Given the description of an element on the screen output the (x, y) to click on. 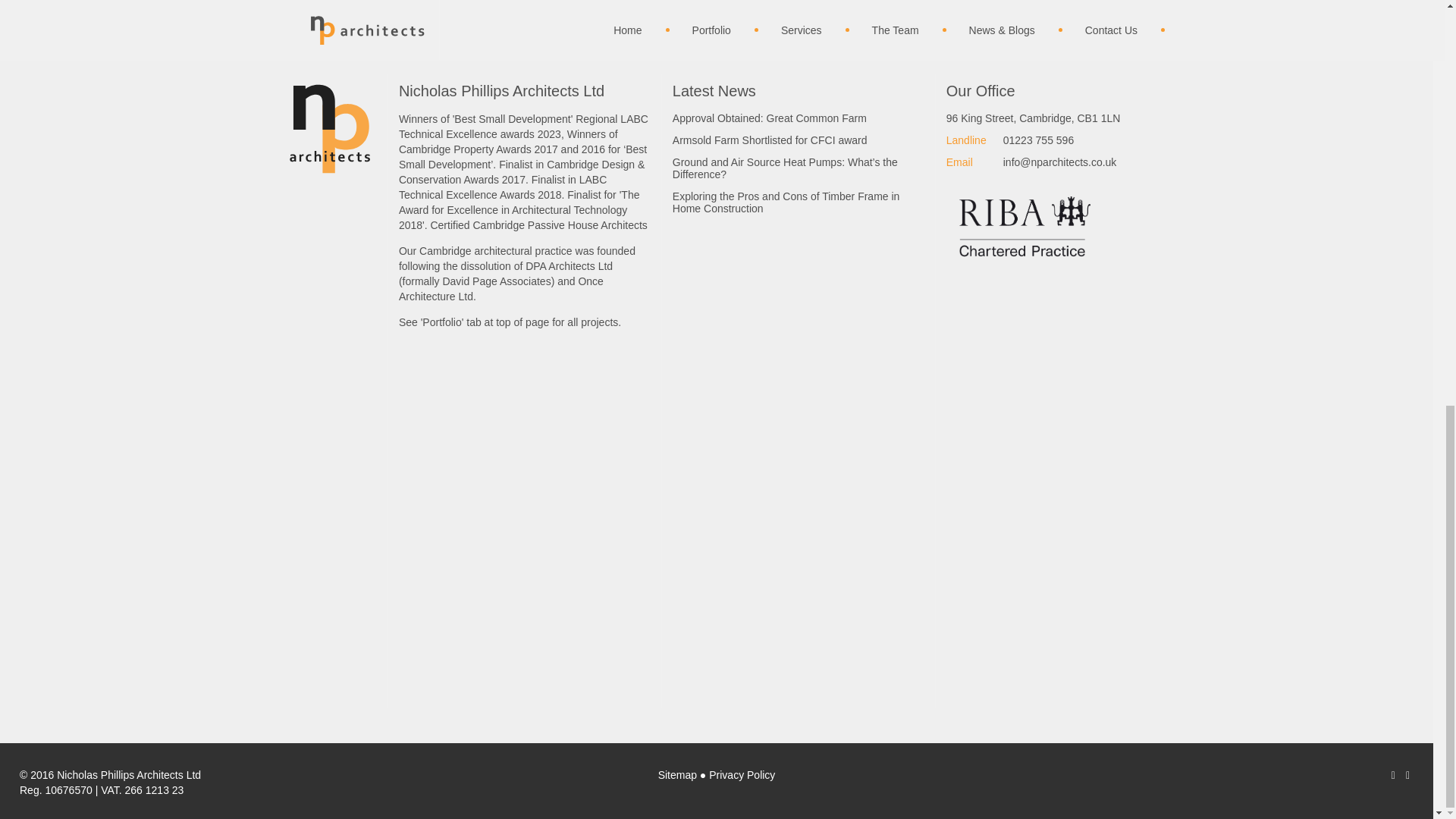
Armsold Farm Shortlisted for CFCI award (798, 142)
Privacy Policy (741, 775)
Approval Obtained: Great Common Farm (798, 121)
Sitemap (677, 775)
